Given the description of an element on the screen output the (x, y) to click on. 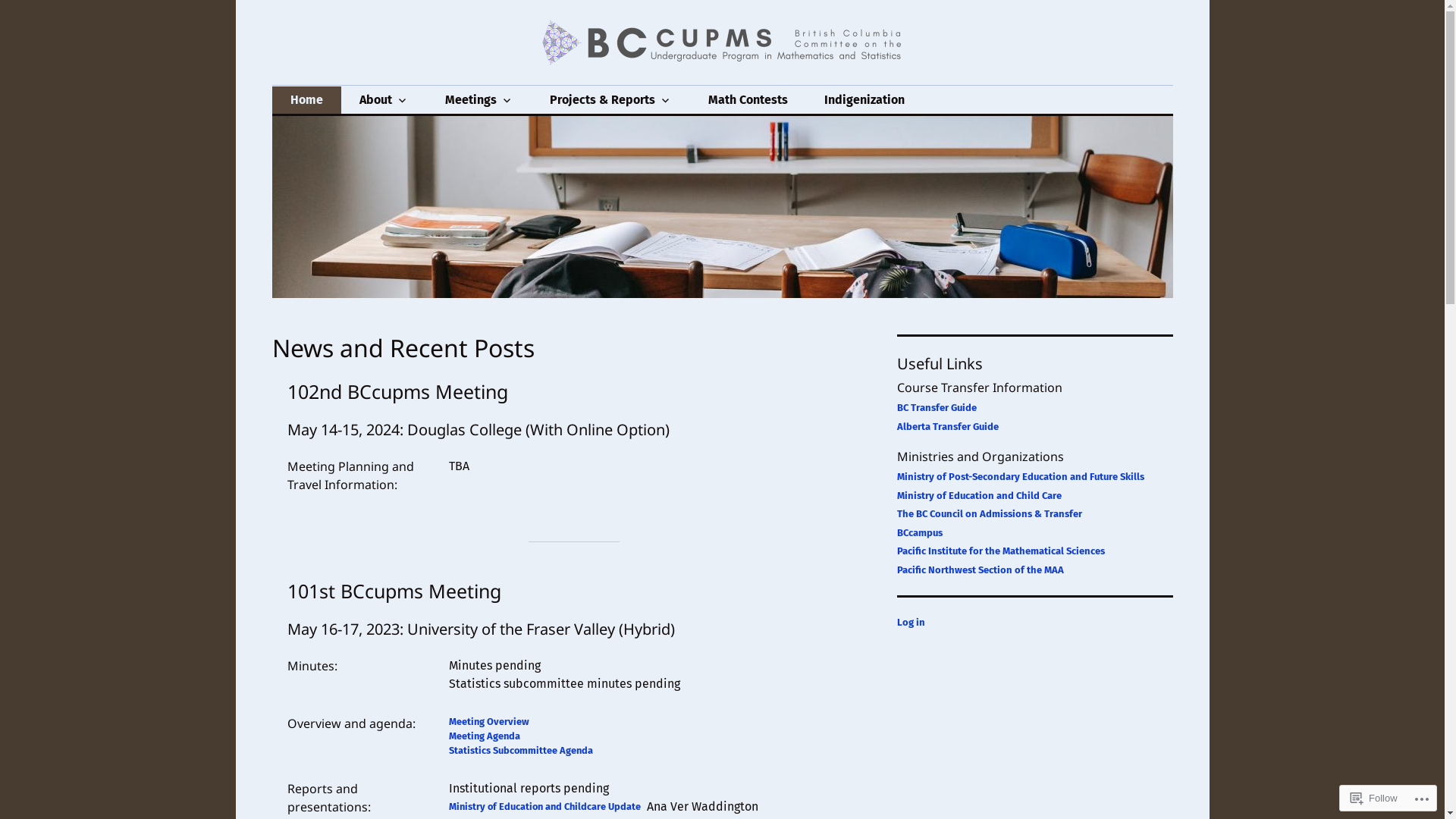
About Element type: text (383, 99)
Alberta Transfer Guide Element type: text (946, 425)
BC Transfer Guide Element type: text (935, 407)
Follow Element type: text (1373, 797)
The BC Council on Admissions & Transfer Element type: text (988, 513)
Log in Element type: text (910, 621)
Home Element type: text (305, 99)
Projects & Reports Element type: text (609, 99)
BCcampus Element type: text (918, 531)
Pacific Northwest Section of the MAA Element type: text (979, 569)
Indigenization Element type: text (863, 99)
Meetings Element type: text (478, 99)
Ministry of Education and Child Care Element type: text (978, 495)
Pacific Institute for the Mathematical Sciences Element type: text (1000, 550)
Meeting Agenda Element type: text (484, 735)
Ministry of Education and Childcare Update Element type: text (544, 806)
Math Contests Element type: text (748, 99)
Statistics Subcommittee Agenda Element type: text (520, 750)
BCcupms Element type: text (337, 84)
Ministry of Post-Secondary Education and Future Skills Element type: text (1019, 476)
Meeting Overview Element type: text (488, 721)
